Given the description of an element on the screen output the (x, y) to click on. 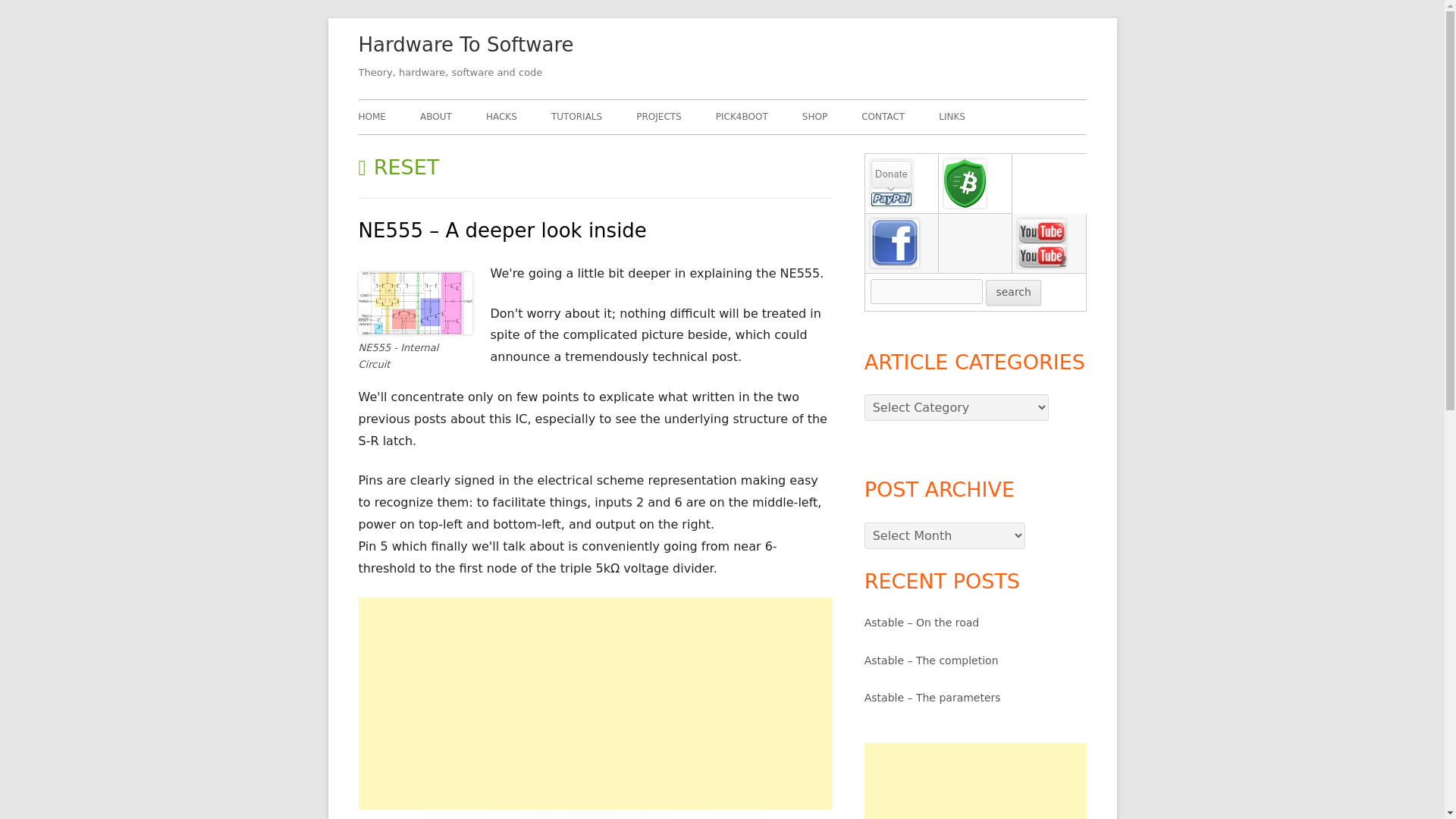
HACKS (501, 116)
CONTACT (882, 116)
PICK4BOOT (742, 116)
Advertisement (594, 703)
Advertisement (975, 780)
PROJECTS (658, 116)
Click to search archives (1013, 292)
ABOUT (435, 116)
Hardware To Software (465, 45)
Enter keyword to search (927, 291)
TUTORIALS (576, 116)
search (1013, 292)
